Given the description of an element on the screen output the (x, y) to click on. 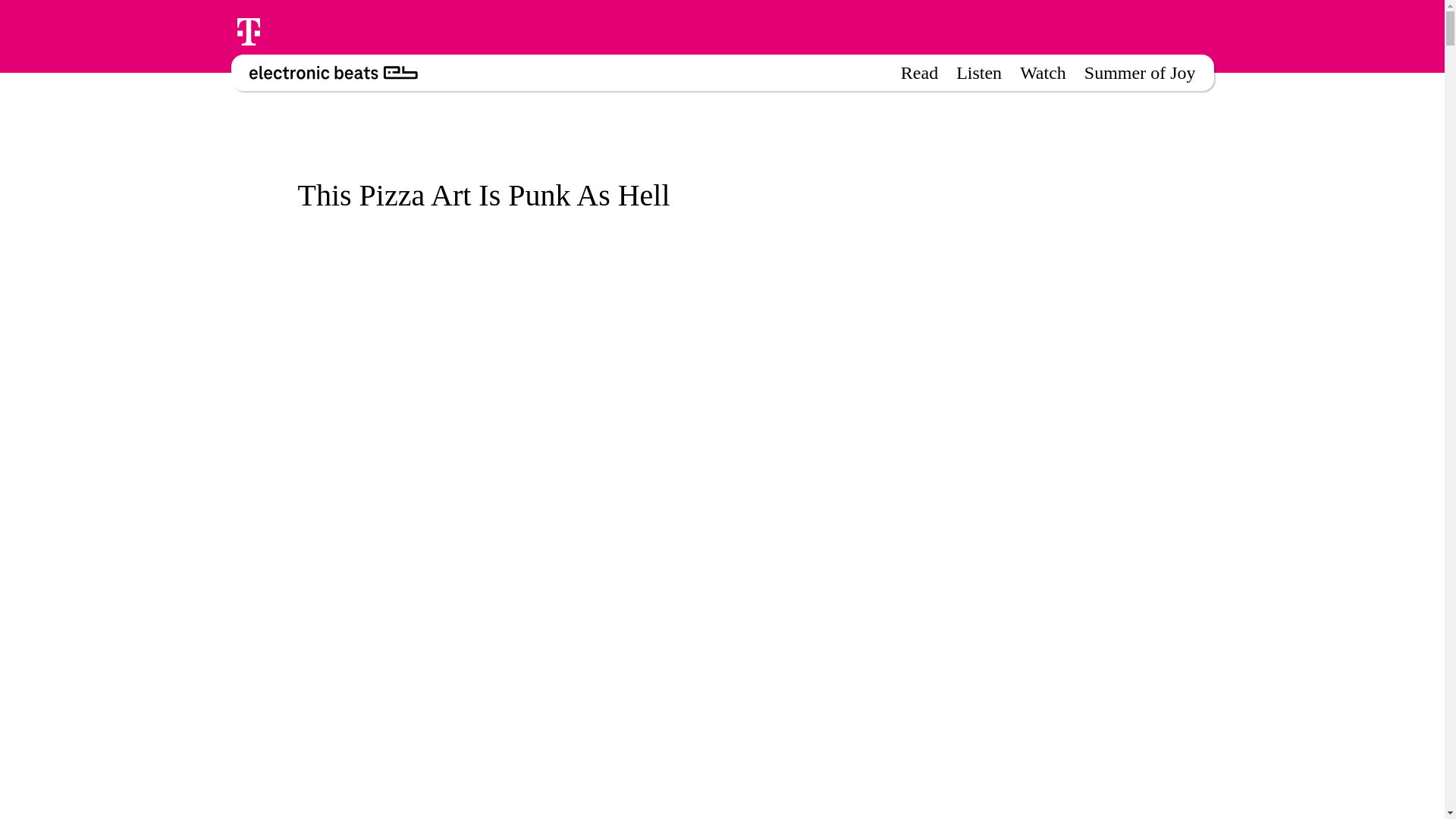
Summer of Joy (1139, 71)
Telekom Electronic Beats (323, 73)
Read (919, 71)
Listen (978, 71)
Watch (1042, 71)
